Given the description of an element on the screen output the (x, y) to click on. 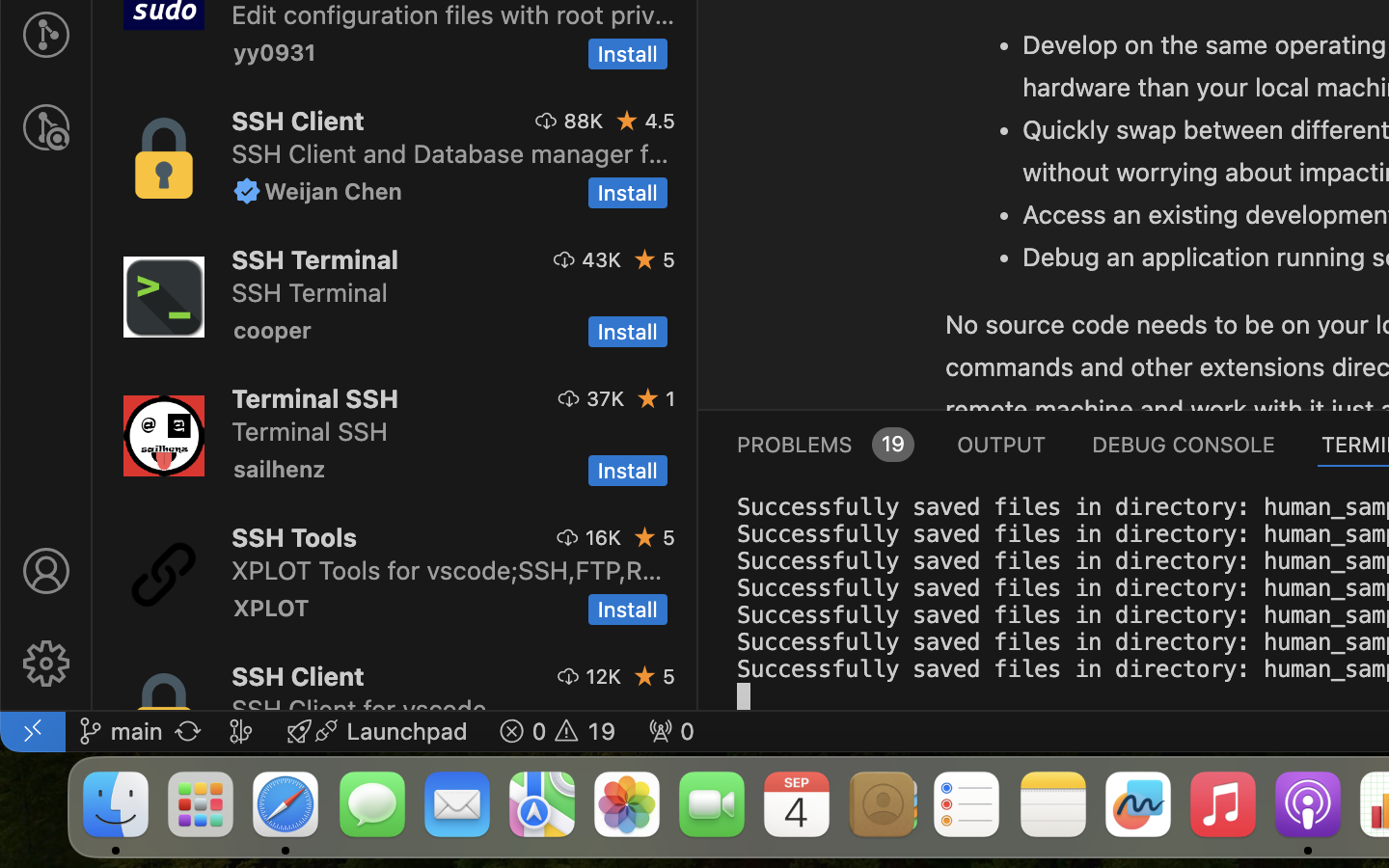
37K Element type: AXStaticText (605, 397)
0 OUTPUT Element type: AXRadioButton (1001, 443)
0 DEBUG CONSOLE Element type: AXRadioButton (1183, 443)
 Element type: AXStaticText (46, 127)
Launchpad   Element type: AXButton (376, 730)
